Given the description of an element on the screen output the (x, y) to click on. 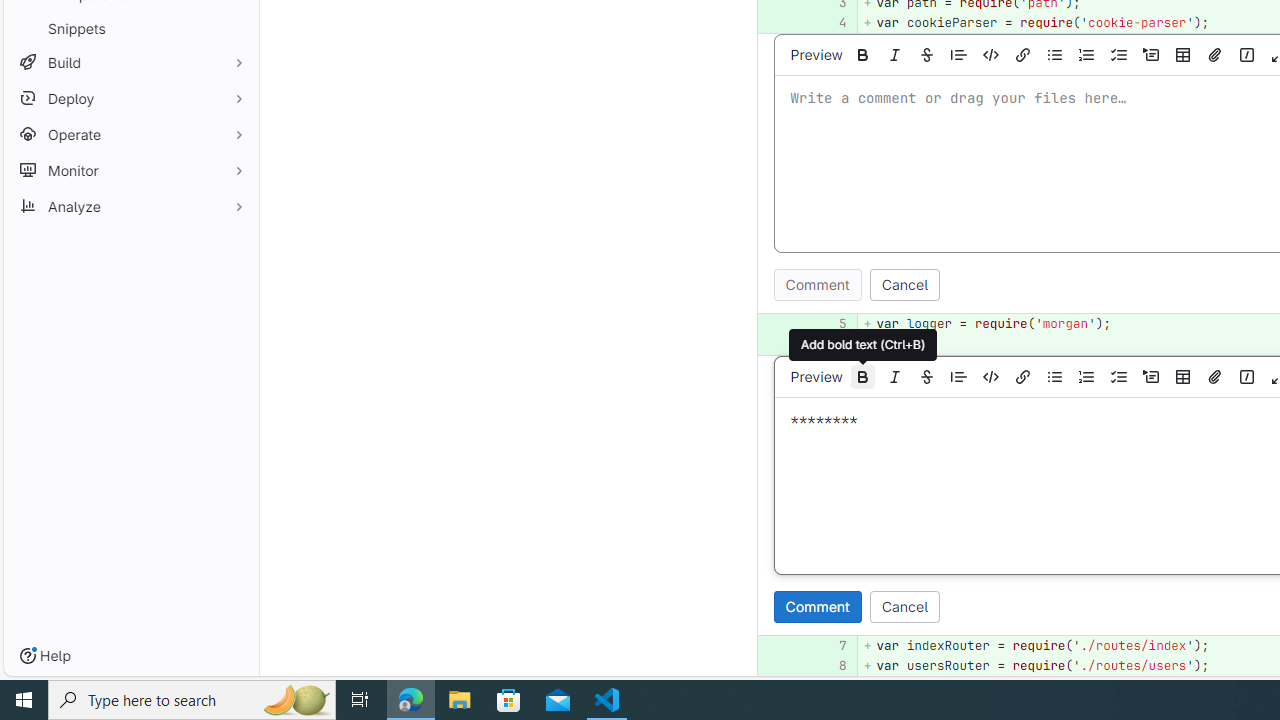
Add a table (1183, 376)
Snippets (130, 28)
Add a collapsible section (1151, 376)
8 (829, 665)
Add a comment to this line (757, 665)
Class: s16 gl-icon gl-button-icon  (1246, 376)
Add bold text (Ctrl+B) (863, 376)
Snippets (130, 28)
Add a numbered list (1087, 376)
7 (831, 645)
Analyze (130, 206)
6 (829, 344)
Preview (816, 376)
6 (831, 344)
